Given the description of an element on the screen output the (x, y) to click on. 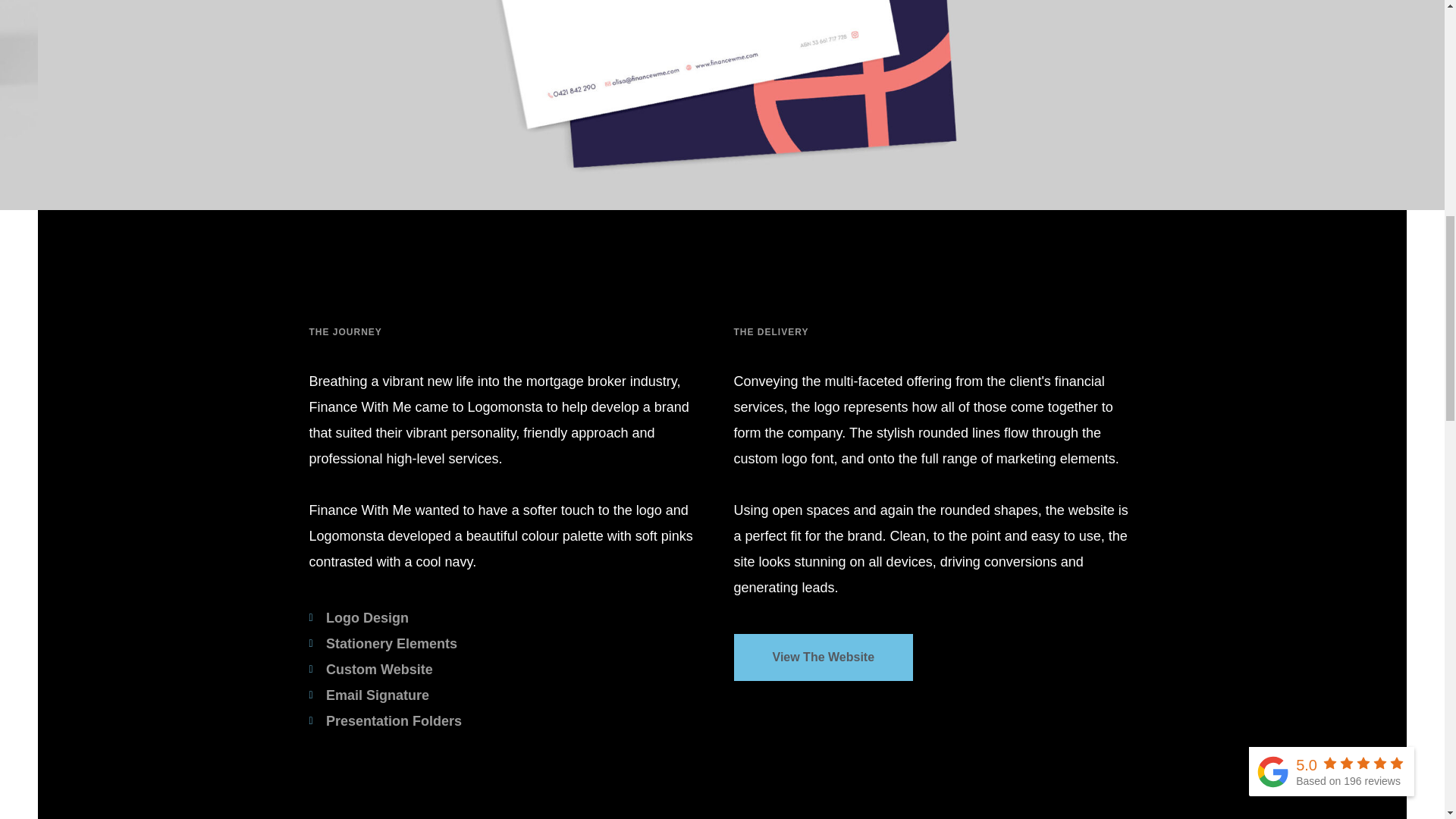
View The Website (823, 656)
